Given the description of an element on the screen output the (x, y) to click on. 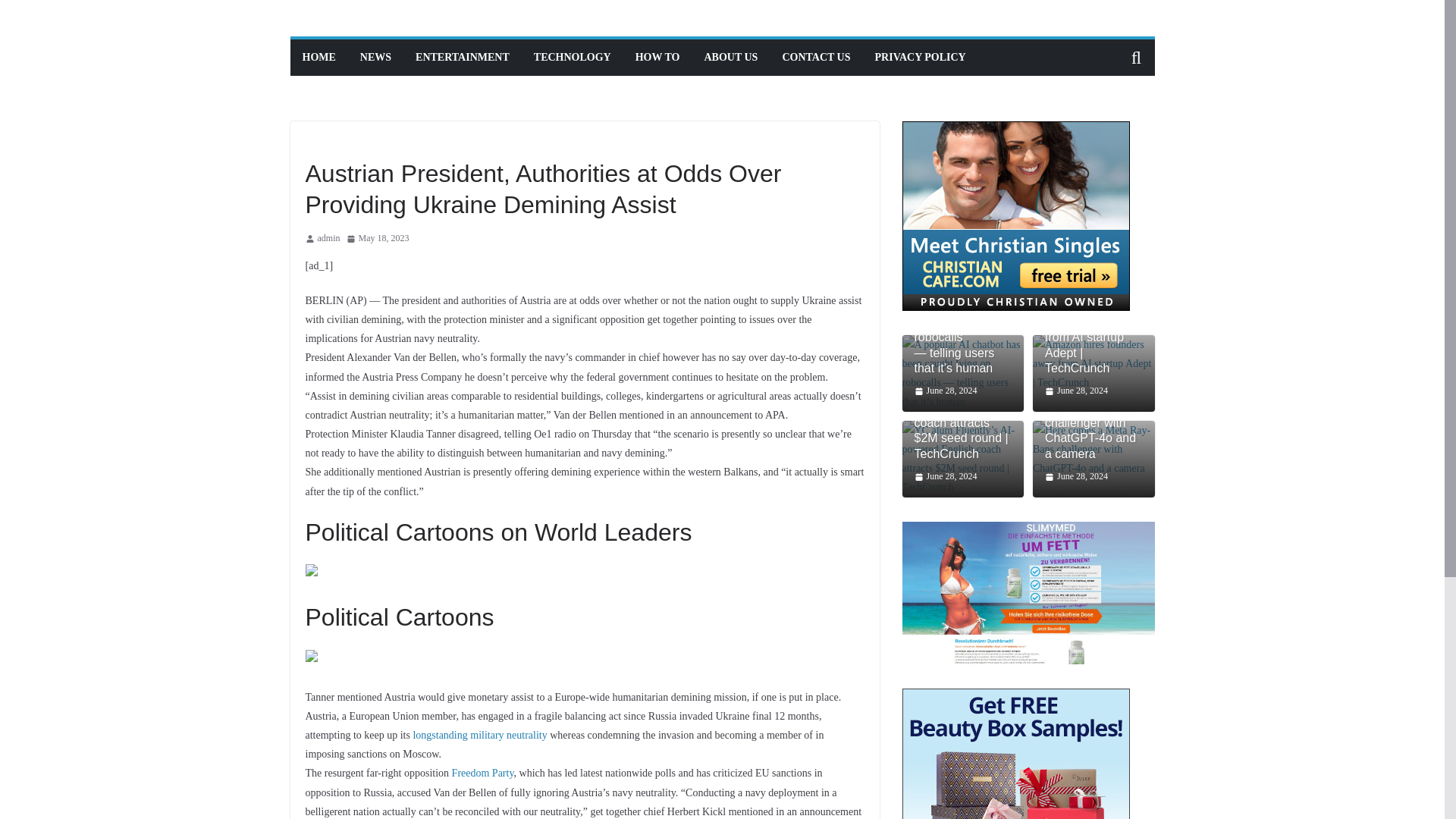
June 28, 2024 (945, 476)
PRIVACY POLICY (920, 56)
Freedom Party (482, 772)
ENTERTAINMENT (461, 56)
4:07 am (377, 238)
June 28, 2024 (1076, 391)
HOME (317, 56)
CONTACT US (815, 56)
May 18, 2023 (377, 238)
